Given the description of an element on the screen output the (x, y) to click on. 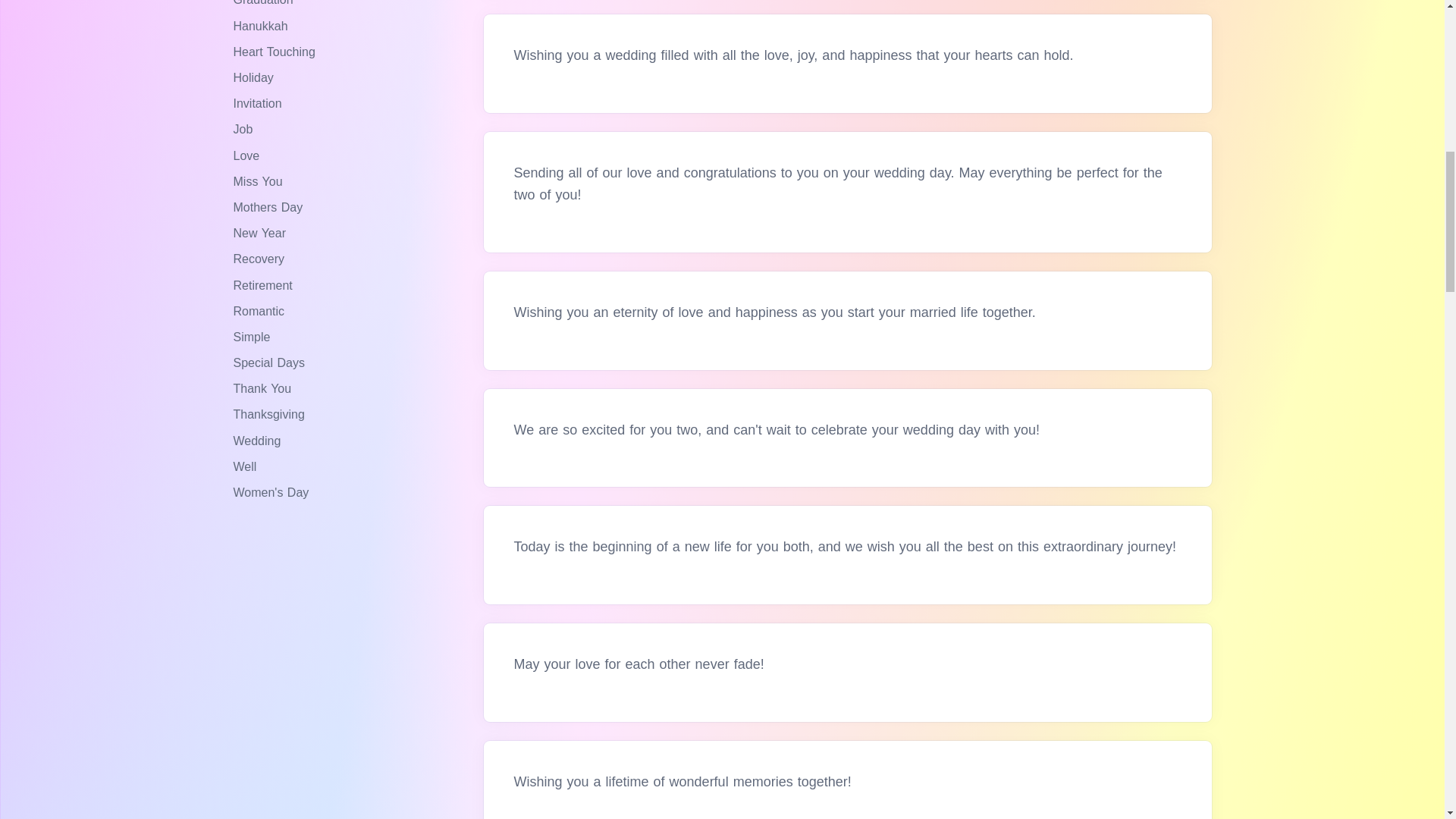
Job (244, 128)
Graduation (264, 2)
Invitation (258, 103)
Heart Touching (275, 51)
Recovery (260, 258)
Romantic (260, 310)
Mothers Day (269, 206)
Hanukkah (262, 25)
New Year (260, 232)
Love (247, 155)
Retirement (264, 285)
Miss You (259, 181)
Holiday (255, 77)
